Given the description of an element on the screen output the (x, y) to click on. 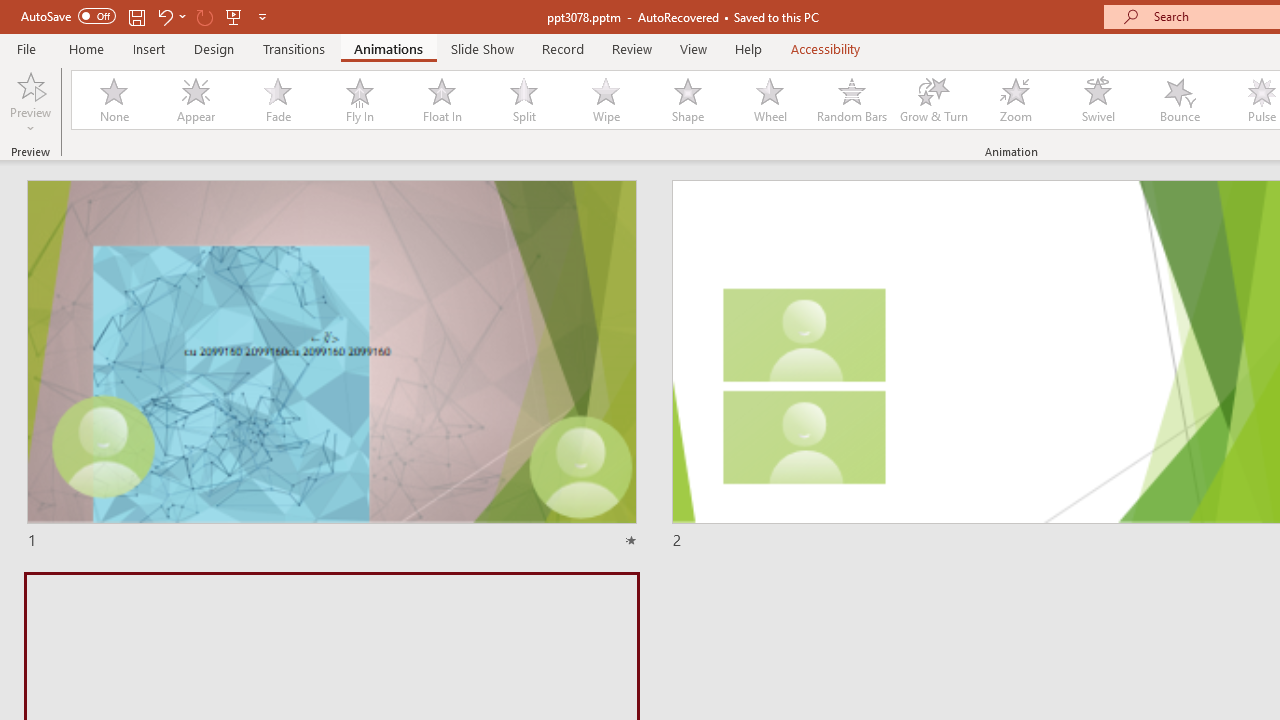
Grow & Turn (934, 100)
Bounce (1180, 100)
Wheel (770, 100)
